Given the description of an element on the screen output the (x, y) to click on. 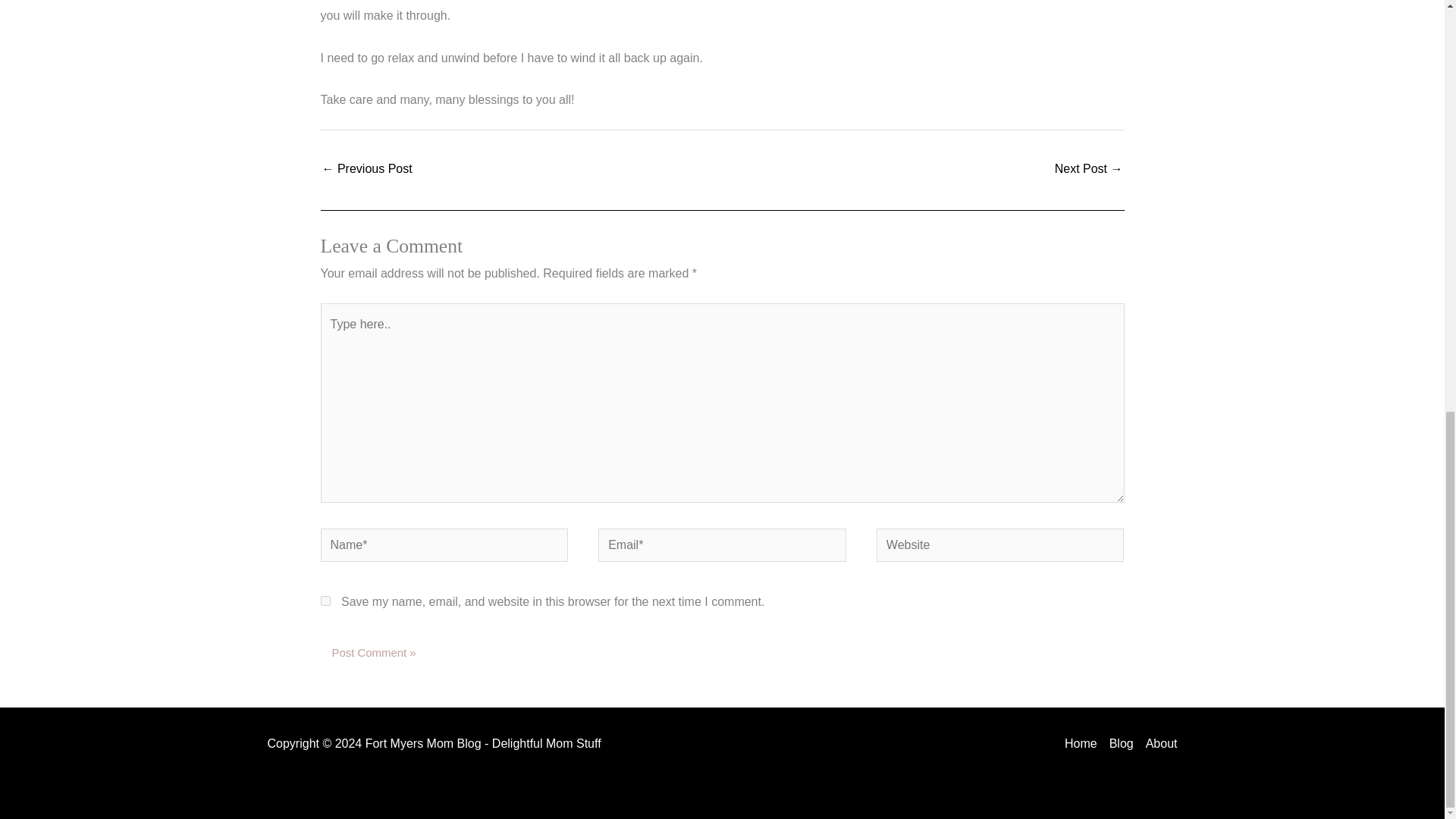
Blog (1121, 743)
Through the Eyes of a Child! (1088, 170)
yes (325, 601)
Home (1083, 743)
About (1158, 743)
